Given the description of an element on the screen output the (x, y) to click on. 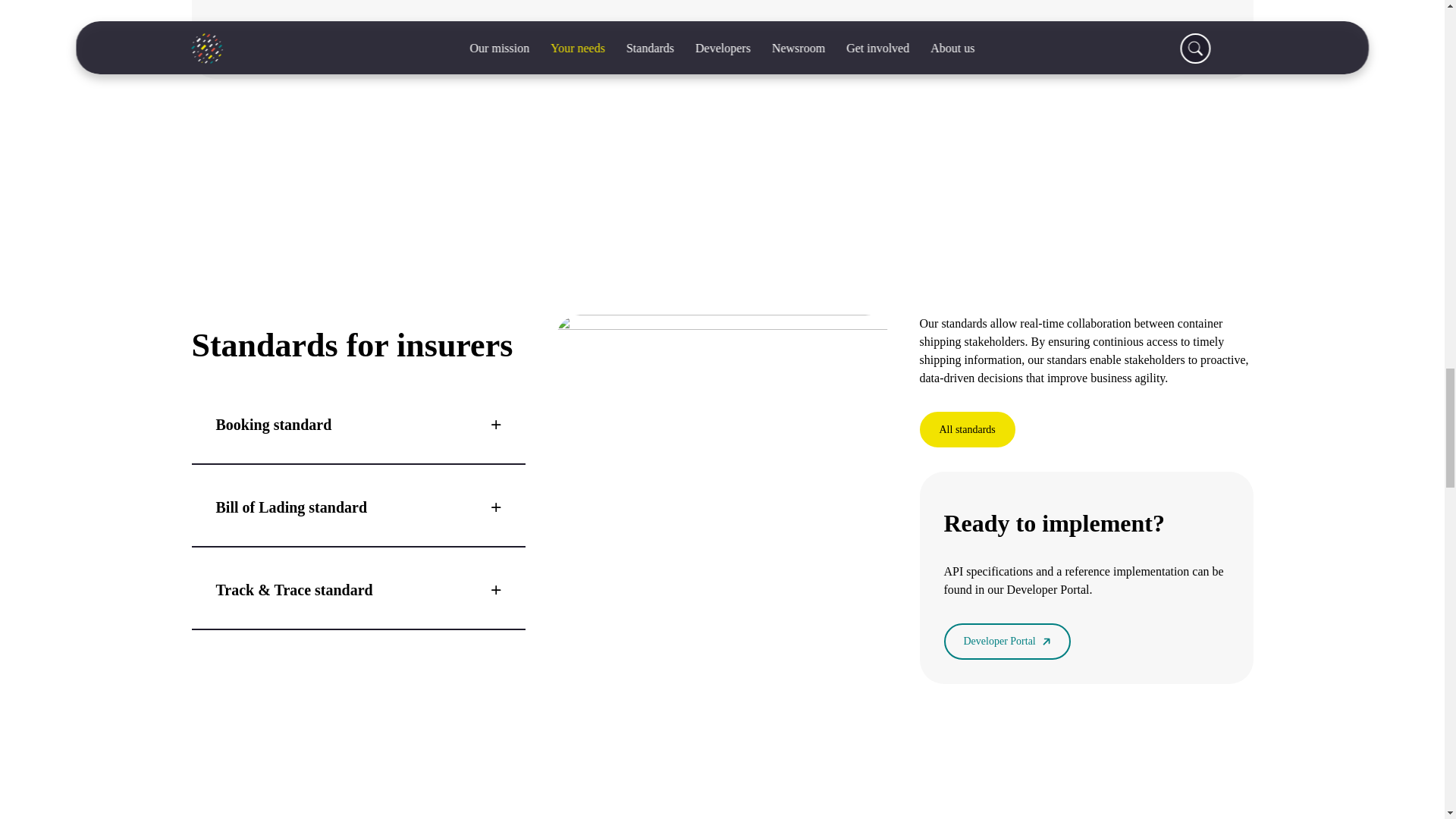
Booking standard (357, 424)
Developer Portal (1006, 641)
All standards (966, 429)
Bill of Lading standard (357, 507)
